Given the description of an element on the screen output the (x, y) to click on. 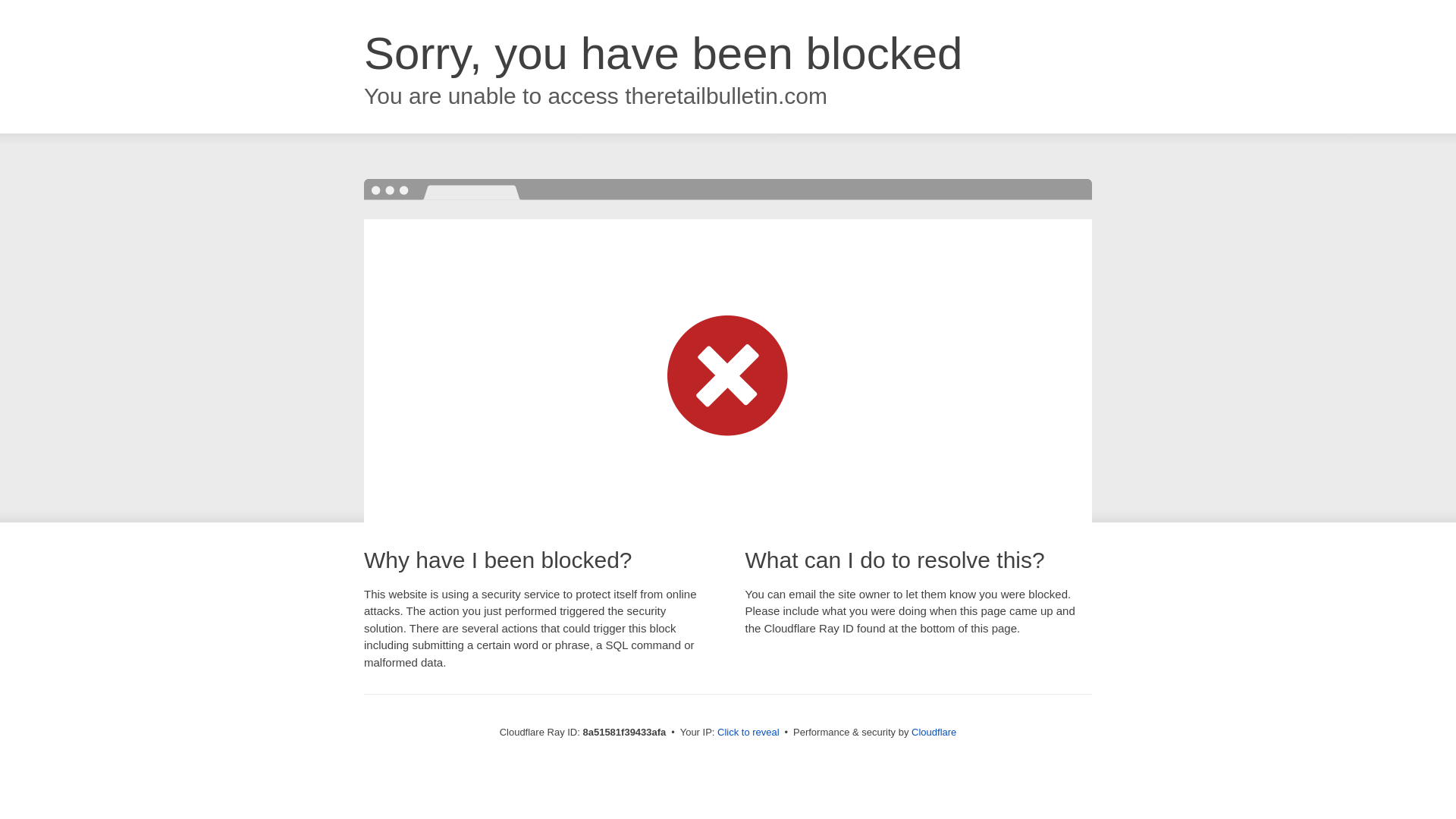
Click to reveal (747, 732)
Cloudflare (933, 731)
